Given the description of an element on the screen output the (x, y) to click on. 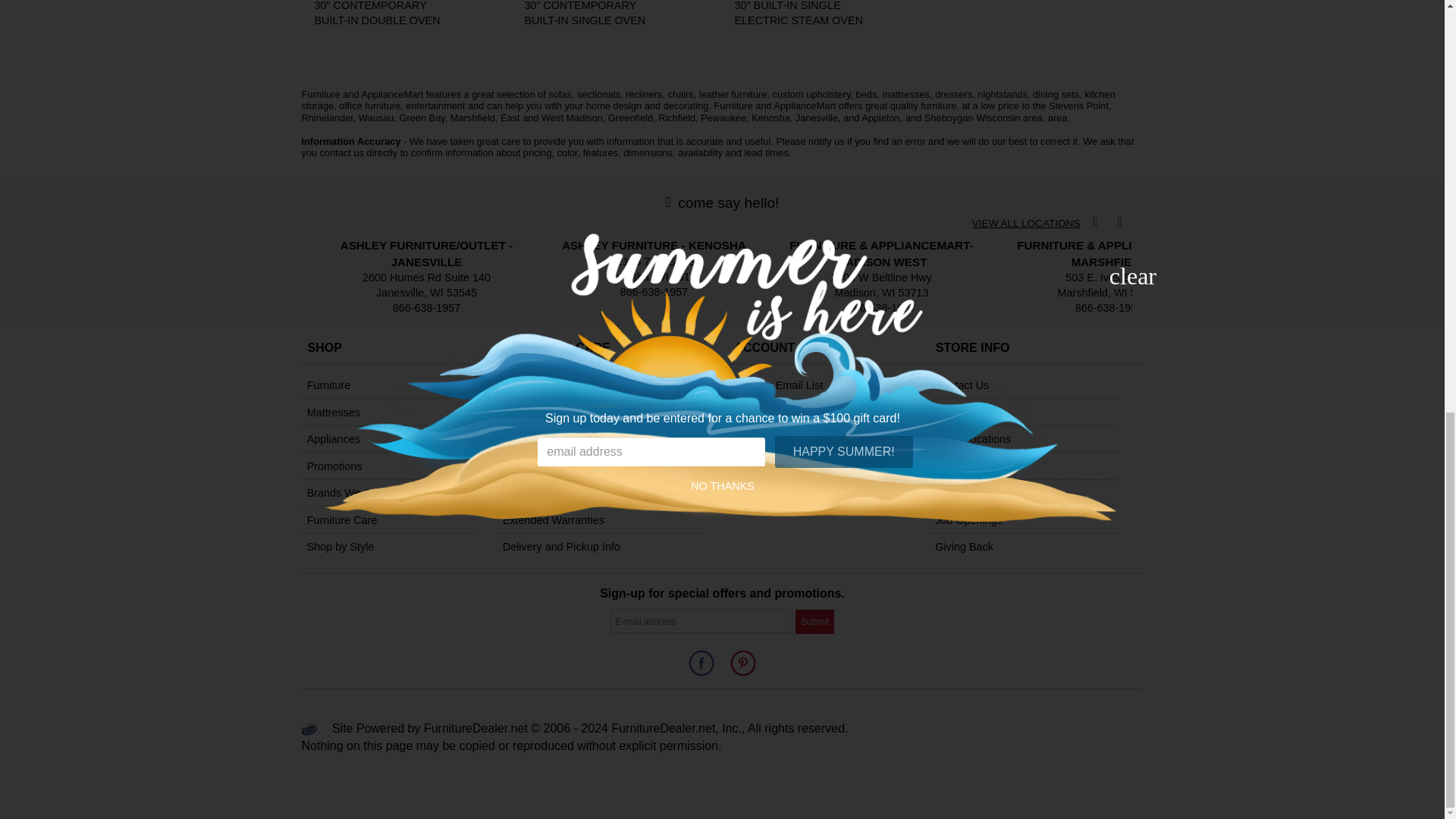
Submit (814, 621)
Click to view this Item. (381, 13)
Click to view this Item. (801, 13)
Click to view this Item. (592, 13)
